Given the description of an element on the screen output the (x, y) to click on. 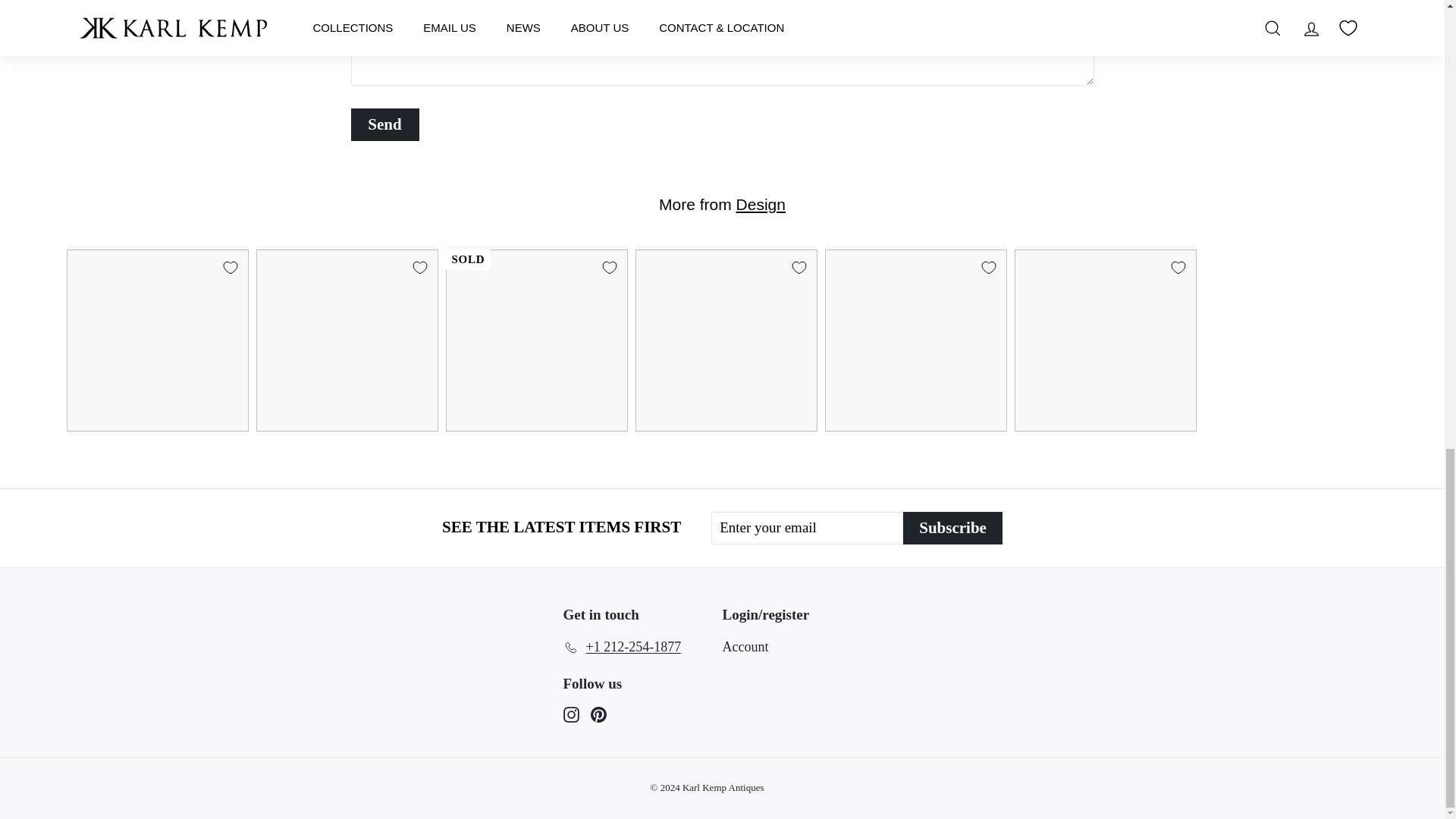
Karl Kemp Antiques on Pinterest (597, 713)
Karl Kemp Antiques on Instagram (570, 713)
